Given the description of an element on the screen output the (x, y) to click on. 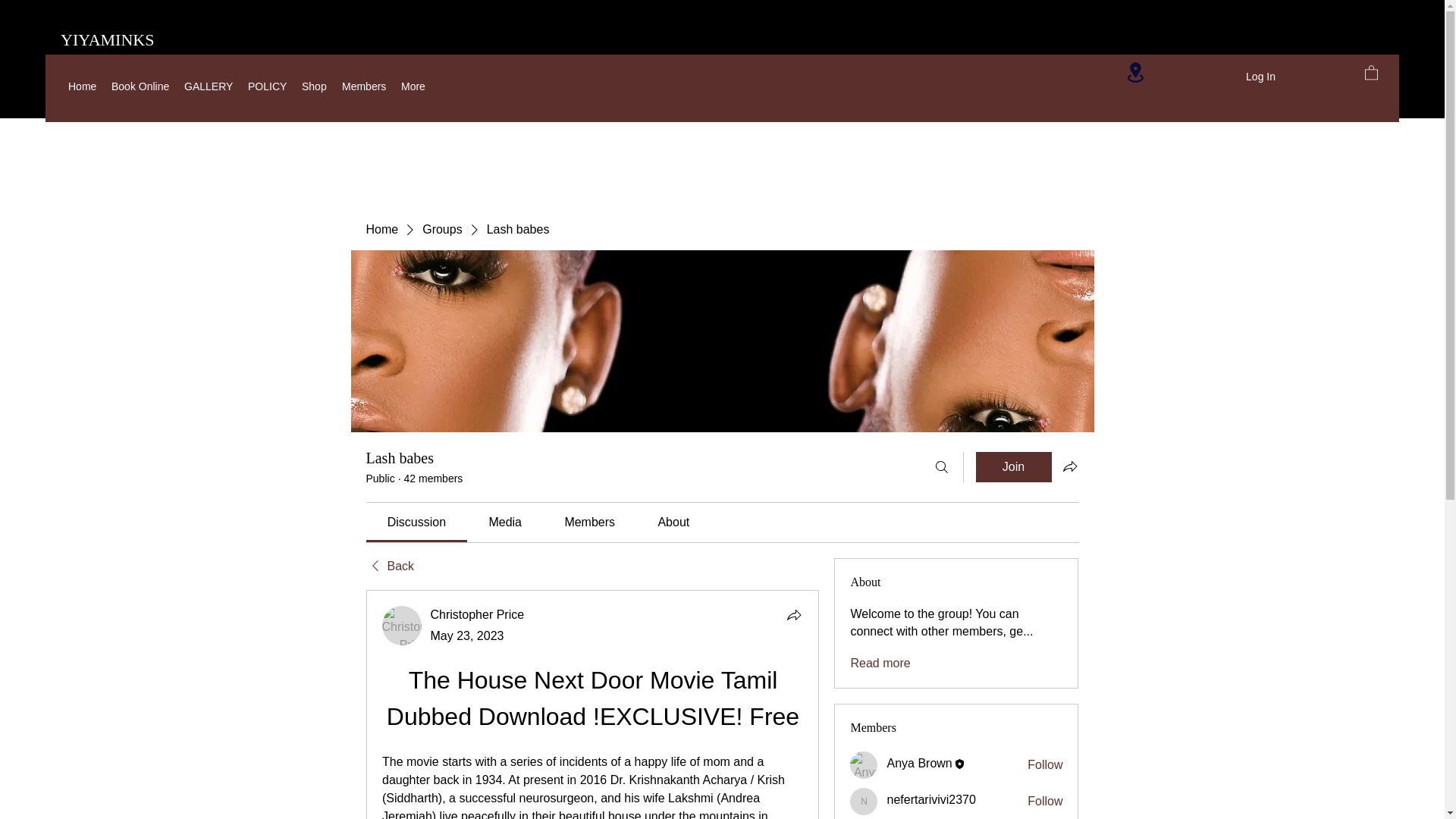
nefertarivivi2370 (863, 800)
nefertarivivi2370 (930, 799)
Anya Brown (863, 764)
Home (381, 229)
Home (82, 86)
Christopher Price (477, 614)
Read more (880, 663)
Christopher Price (401, 625)
Follow (1044, 801)
Groups (441, 229)
